Given the description of an element on the screen output the (x, y) to click on. 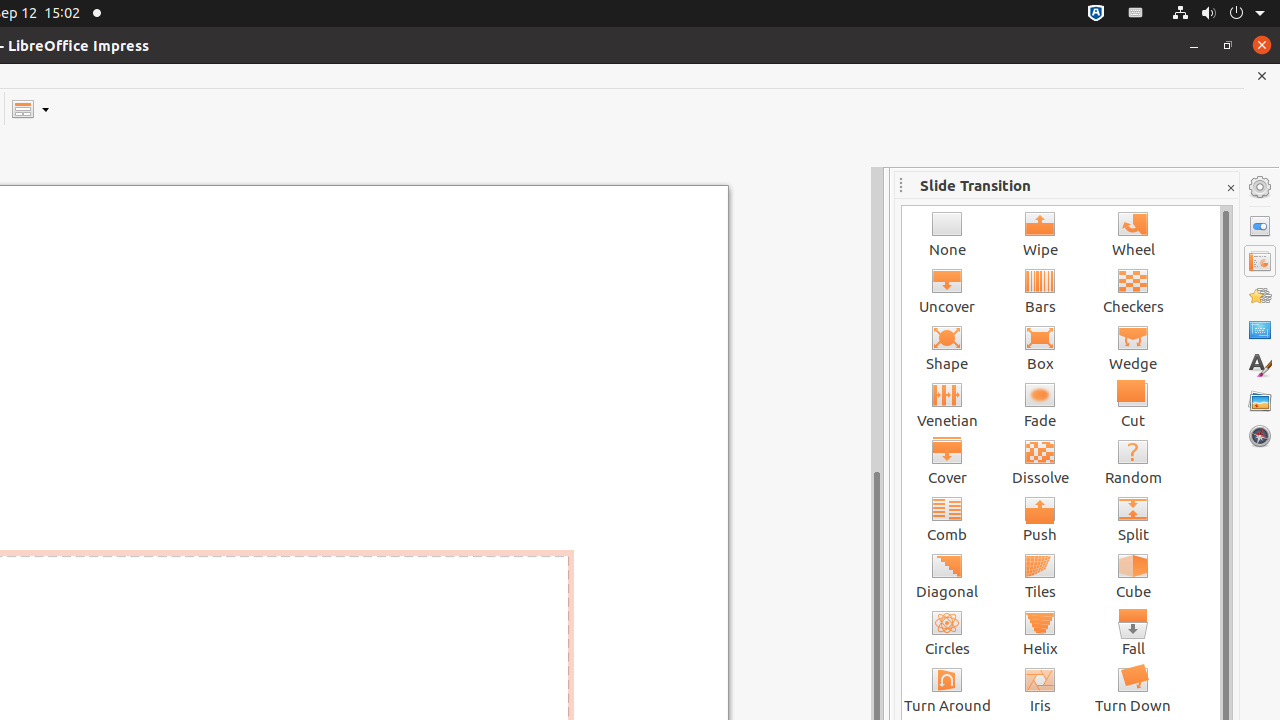
Push Element type: list-item (1040, 518)
Fall Element type: list-item (1133, 632)
Iris Element type: list-item (1040, 689)
Navigator Element type: radio-button (1260, 436)
Turn Around Element type: list-item (947, 689)
